Given the description of an element on the screen output the (x, y) to click on. 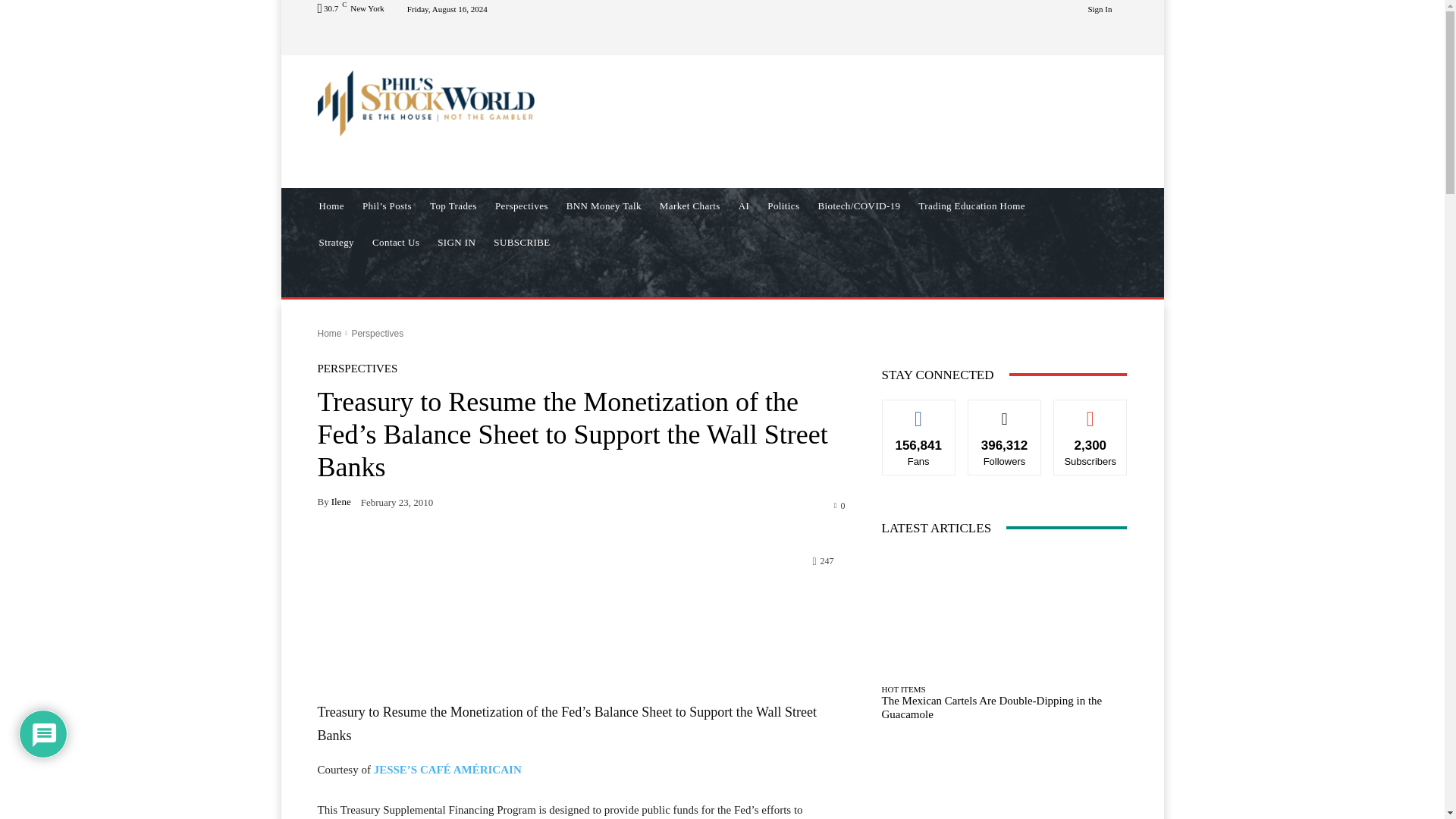
Market Charts (689, 206)
Top Trades (453, 206)
Perspectives (521, 206)
PERSPECTIVES (357, 368)
Home (330, 206)
Strategy (335, 242)
Politics (783, 206)
View all posts in Perspectives (376, 333)
SUBSCRIBE (521, 242)
Home (328, 333)
